Given the description of an element on the screen output the (x, y) to click on. 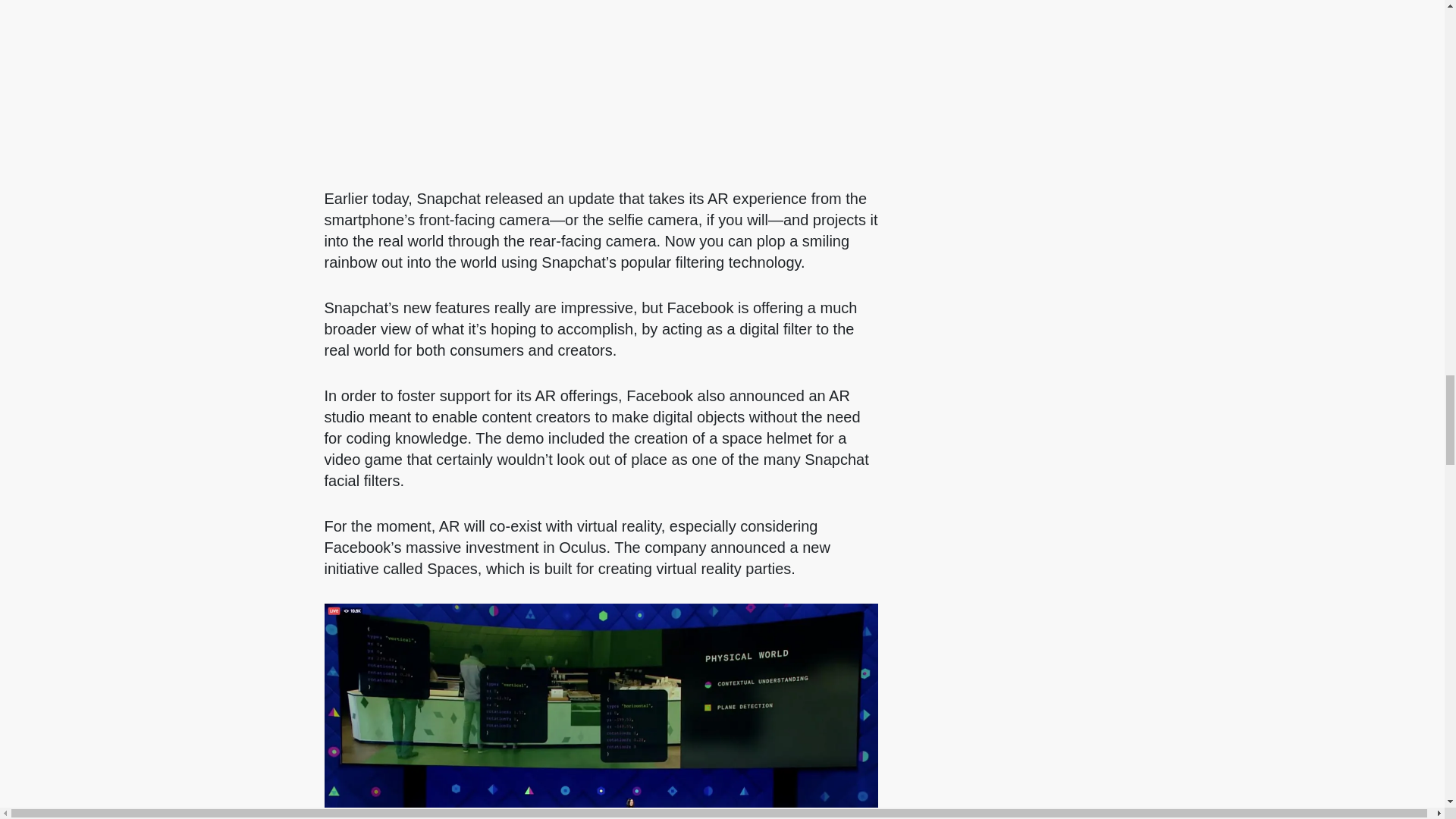
3rd party ad content (600, 76)
3rd party ad content (1165, 260)
